Given the description of an element on the screen output the (x, y) to click on. 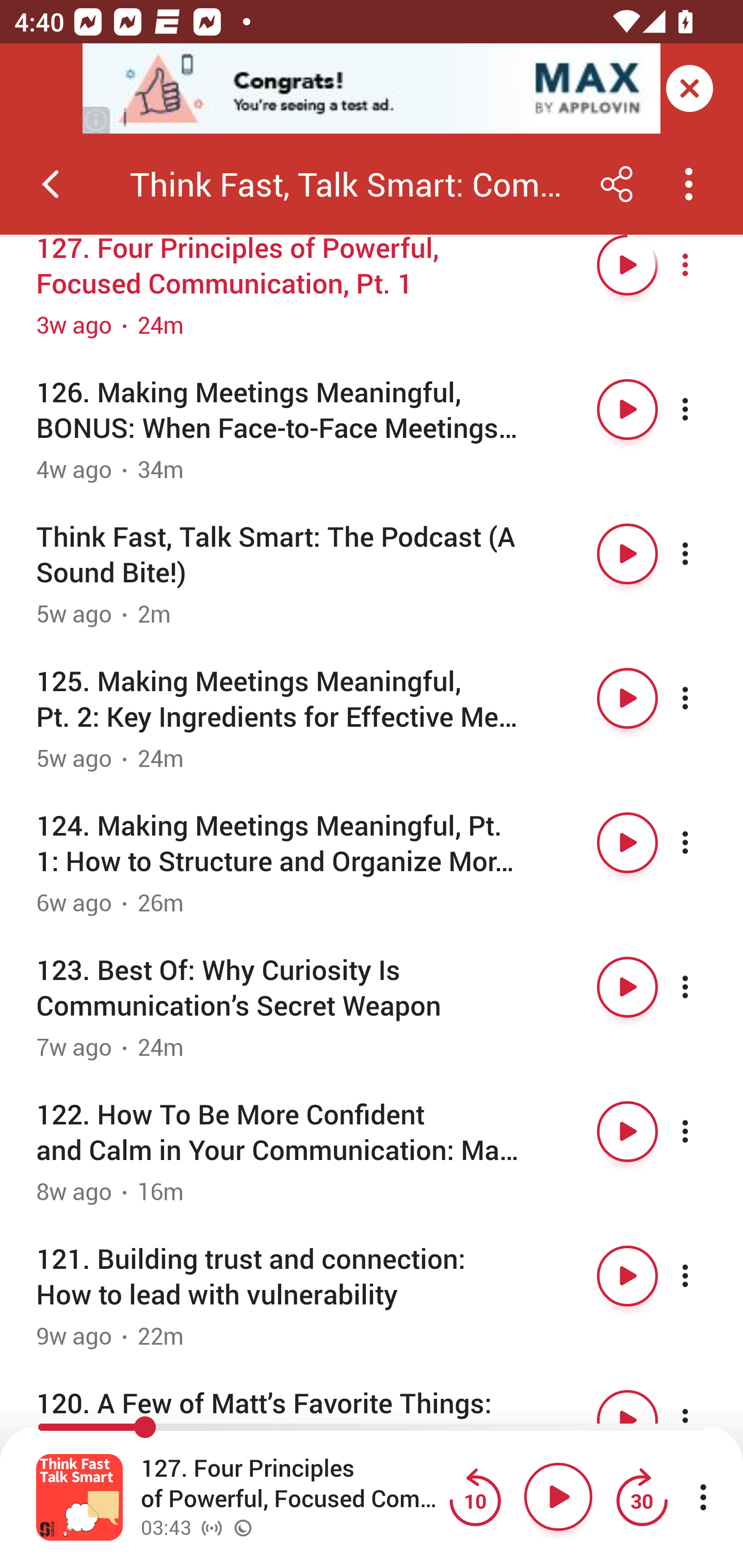
app-monetization (371, 88)
(i) (96, 119)
Back (50, 184)
Play button (627, 264)
More options (703, 264)
Play button (627, 410)
More options (703, 410)
Play button (627, 554)
More options (703, 554)
Play button (627, 698)
More options (703, 698)
Play button (627, 842)
More options (703, 842)
Play button (627, 987)
More options (703, 987)
Play button (627, 1131)
More options (703, 1131)
Play button (627, 1275)
More options (703, 1275)
Open fullscreen player (79, 1497)
More player controls (703, 1497)
Play button (558, 1496)
Jump back (475, 1497)
Jump forward (641, 1497)
